Given the description of an element on the screen output the (x, y) to click on. 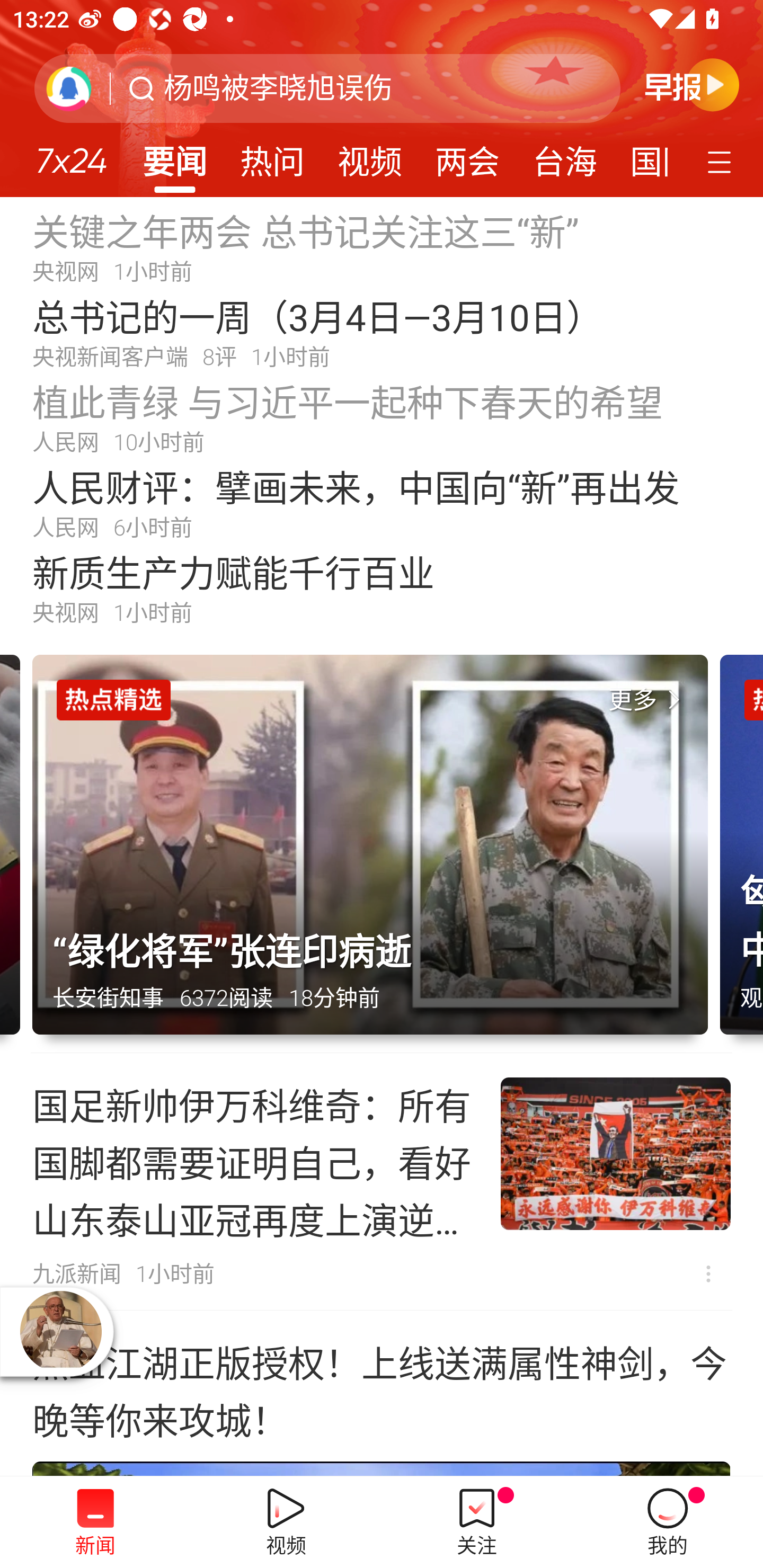
早晚报 (691, 84)
刷新 (68, 88)
杨鸣被李晓旭误伤 (278, 88)
7x24 (70, 154)
要闻 (174, 155)
热问 (272, 155)
视频 (369, 155)
两会 (466, 155)
台海 (564, 155)
 定制频道 (721, 160)
关键之年两会 总书记关注这三“新” 央视网 1小时前 (381, 245)
总书记的一周（3月4日—3月10日） 央视新闻客户端 8评 1小时前 (381, 331)
植此青绿 与习近平一起种下春天的希望 人民网 10小时前 (381, 416)
人民财评：擘画未来，中国向“新”再出发 人民网 6小时前 (381, 502)
新质生产力赋能千行百业 央视网 1小时前 (381, 587)
更多  “绿化将军”张连印病逝 长安街知事   6372阅读   18分钟前 (376, 853)
更多  (648, 699)
 不感兴趣 (707, 1273)
播放器 (60, 1331)
热血江湖正版授权！上线送满属性神剑，今晚等你来攻城！ (381, 1393)
